Given the description of an element on the screen output the (x, y) to click on. 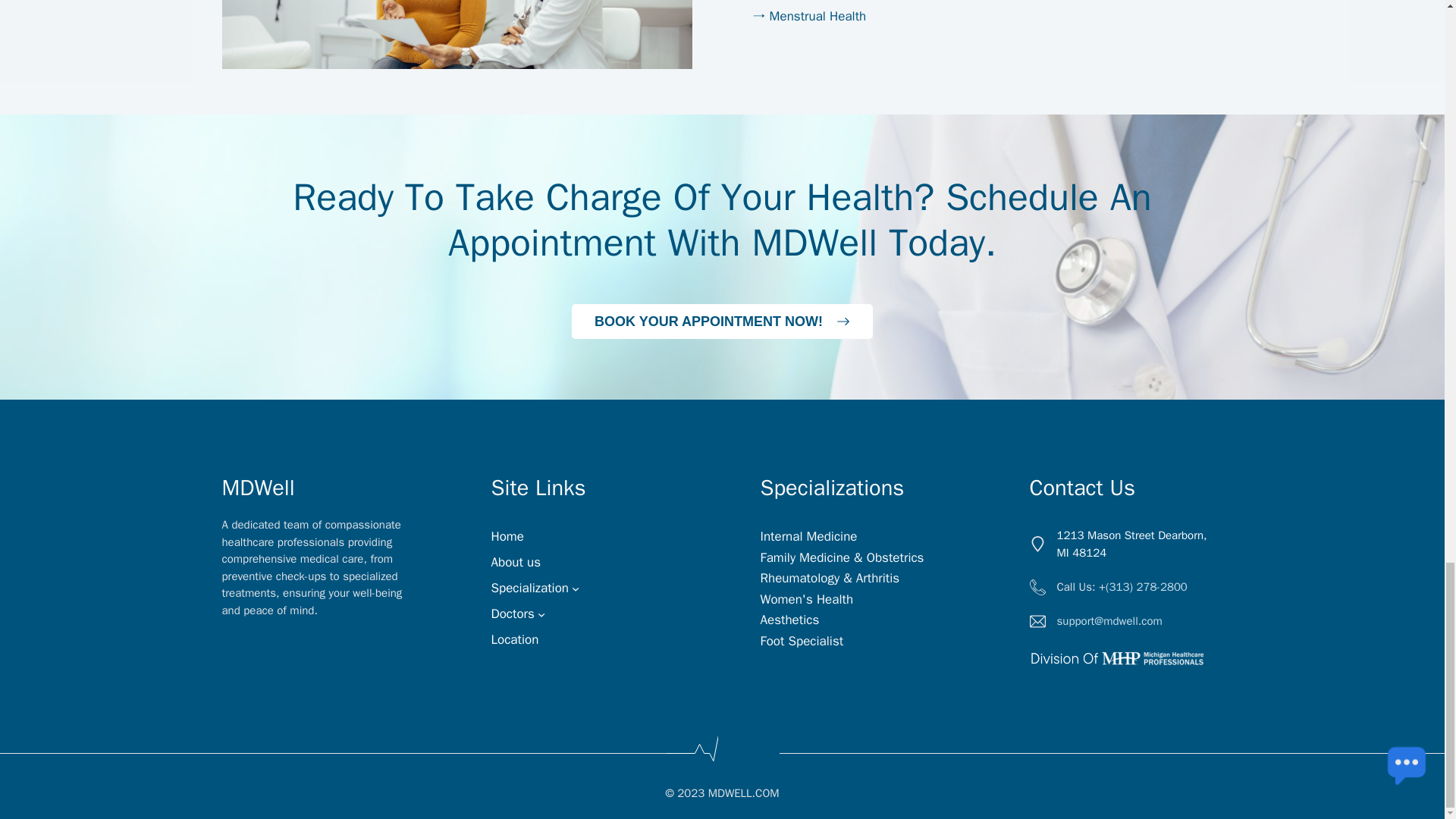
Untitled-design-2023-11-22T220934.094 (456, 34)
BOOK YOUR APPOINTMENT NOW! (722, 321)
Division-Of (1118, 660)
